Given the description of an element on the screen output the (x, y) to click on. 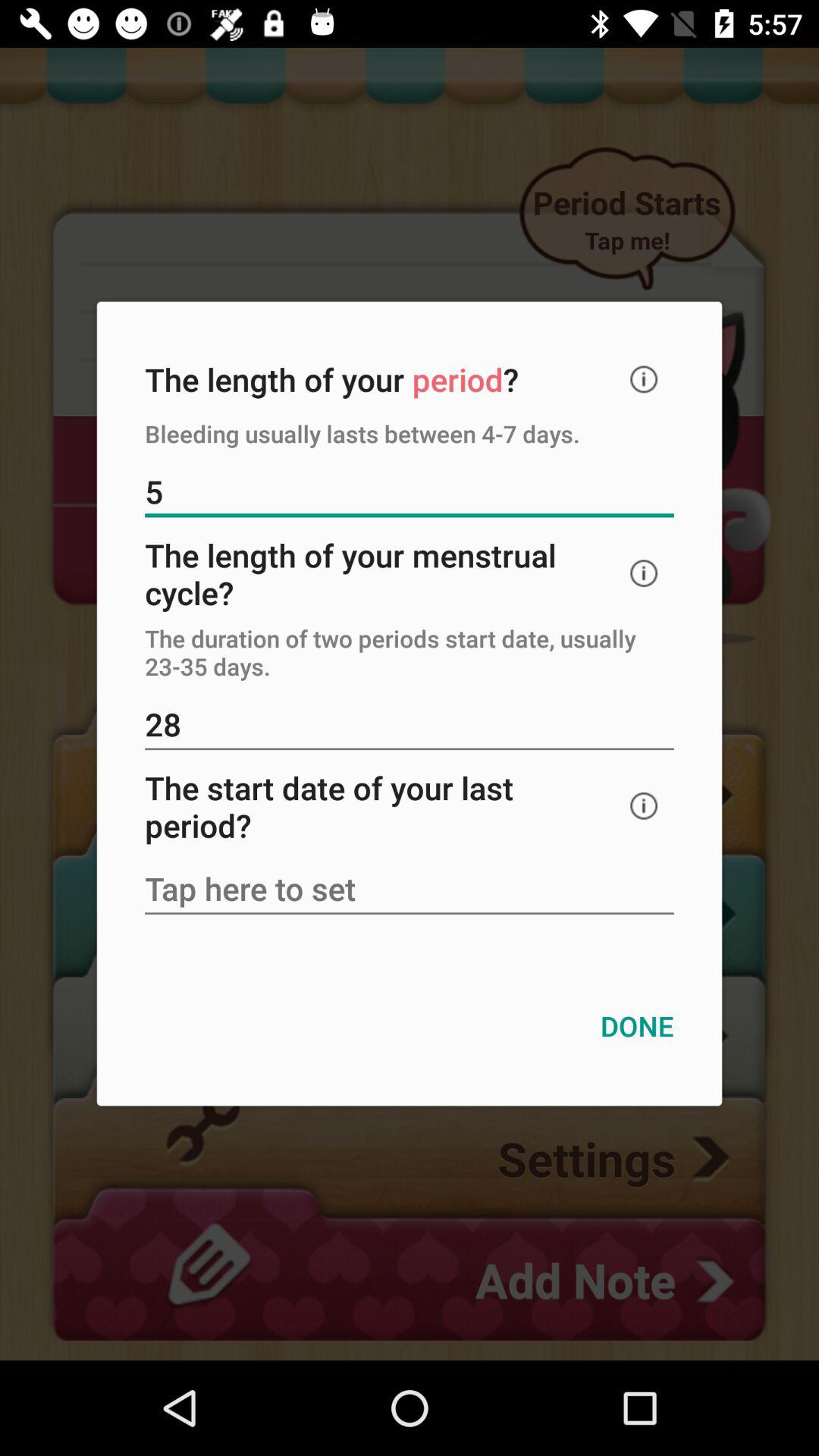
turn off the icon to the right of the the length of (643, 379)
